Given the description of an element on the screen output the (x, y) to click on. 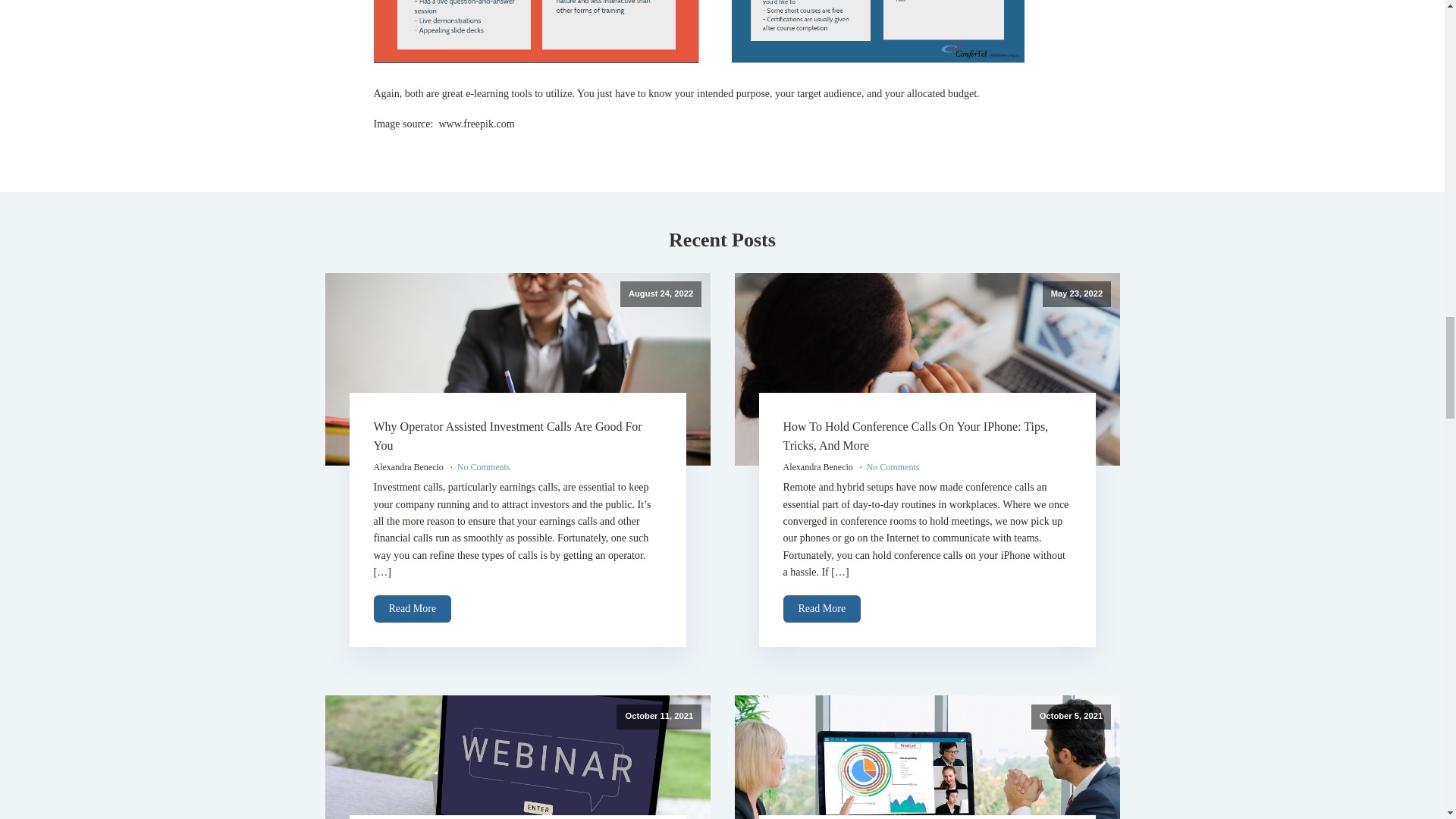
Why Operator Assisted Investment Calls Are Good For You (507, 436)
August 24, 2022 (517, 369)
Read More (411, 609)
No Comments (484, 466)
